Given the description of an element on the screen output the (x, y) to click on. 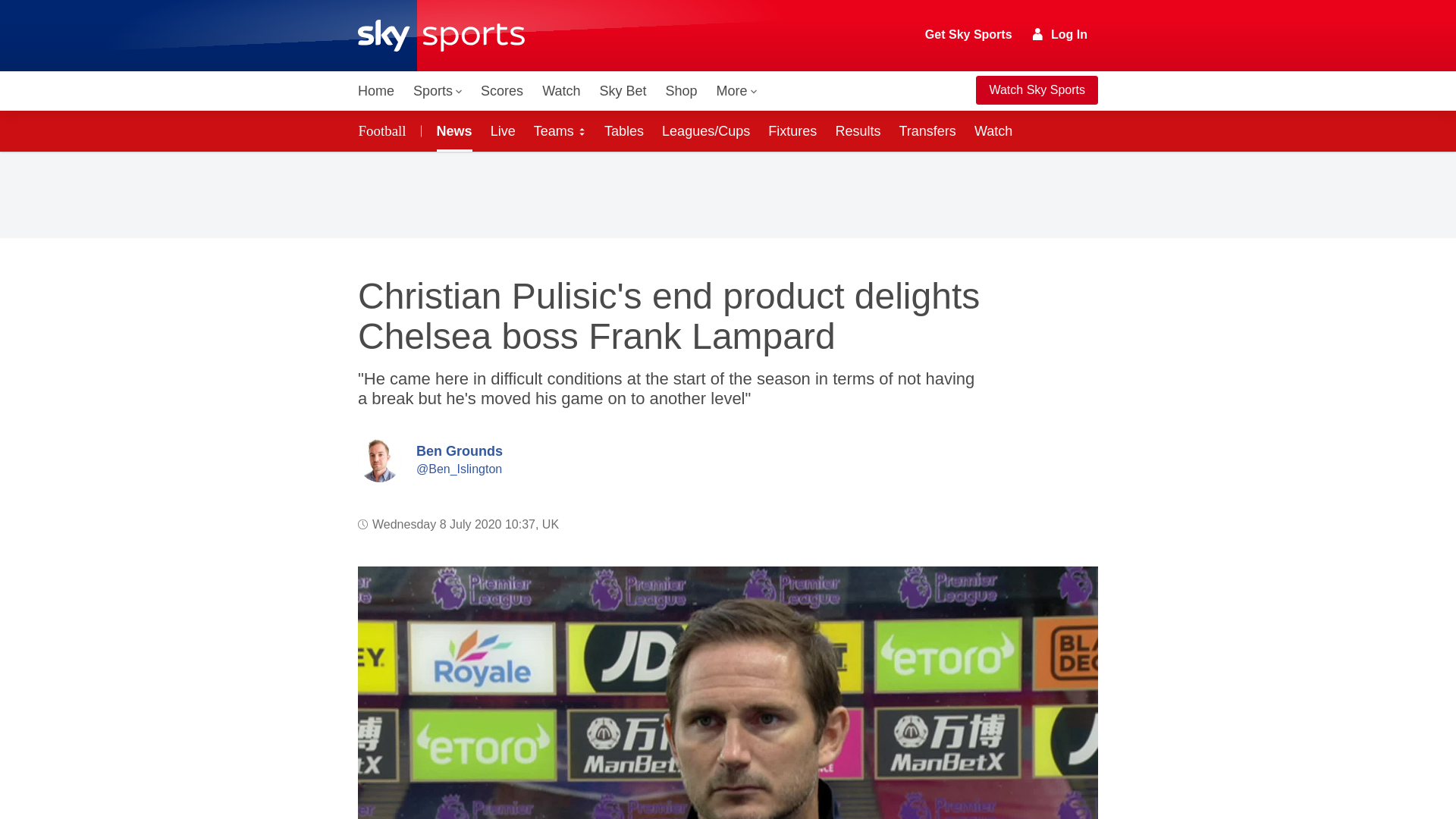
Log In (1060, 33)
News (451, 130)
Scores (502, 91)
Watch Sky Sports (1036, 90)
Football (385, 130)
More (736, 91)
Get Sky Sports (968, 34)
Sports (437, 91)
Home (375, 91)
Watch (561, 91)
